Given the description of an element on the screen output the (x, y) to click on. 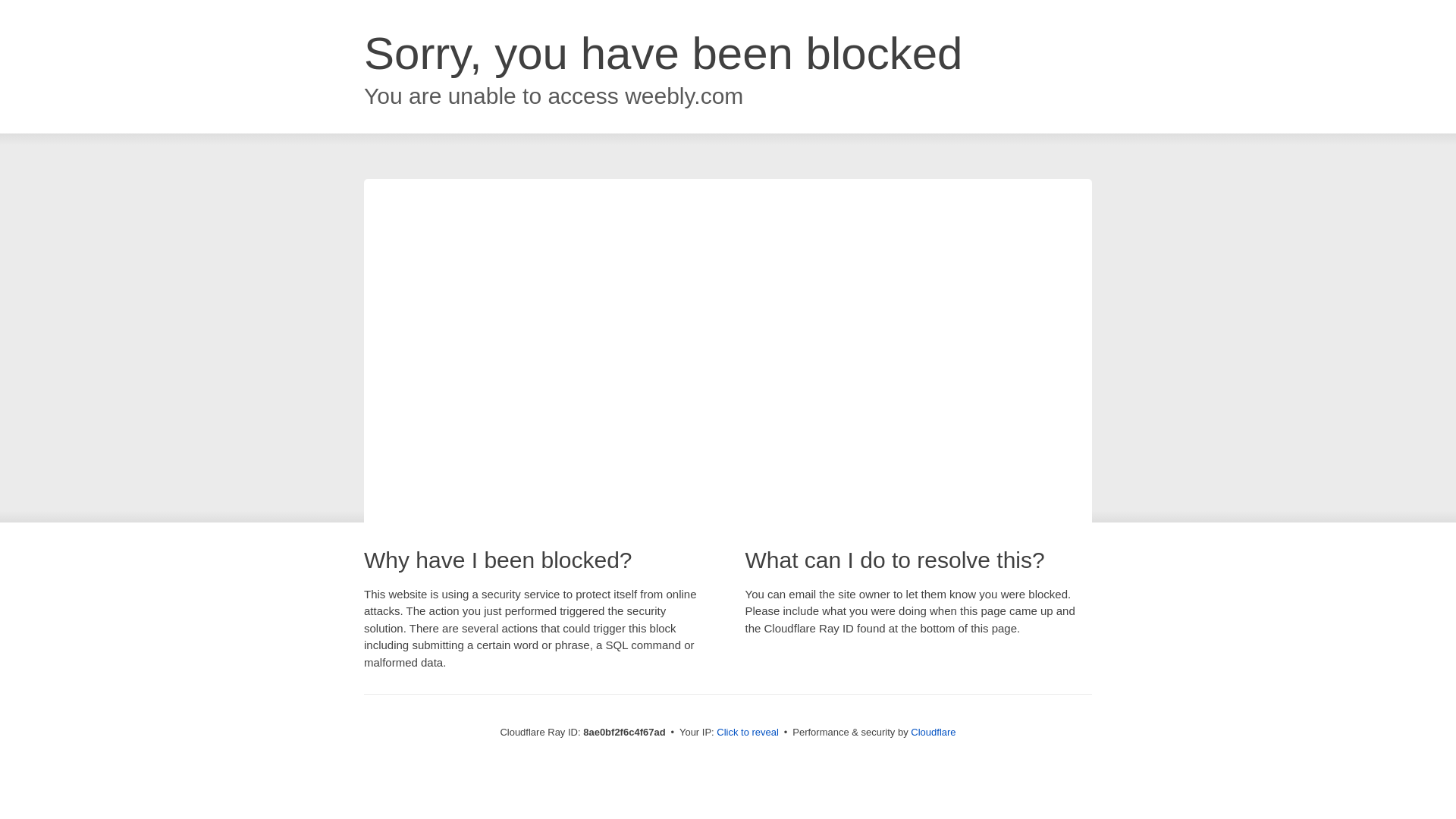
Cloudflare (933, 731)
Click to reveal (747, 732)
